Given the description of an element on the screen output the (x, y) to click on. 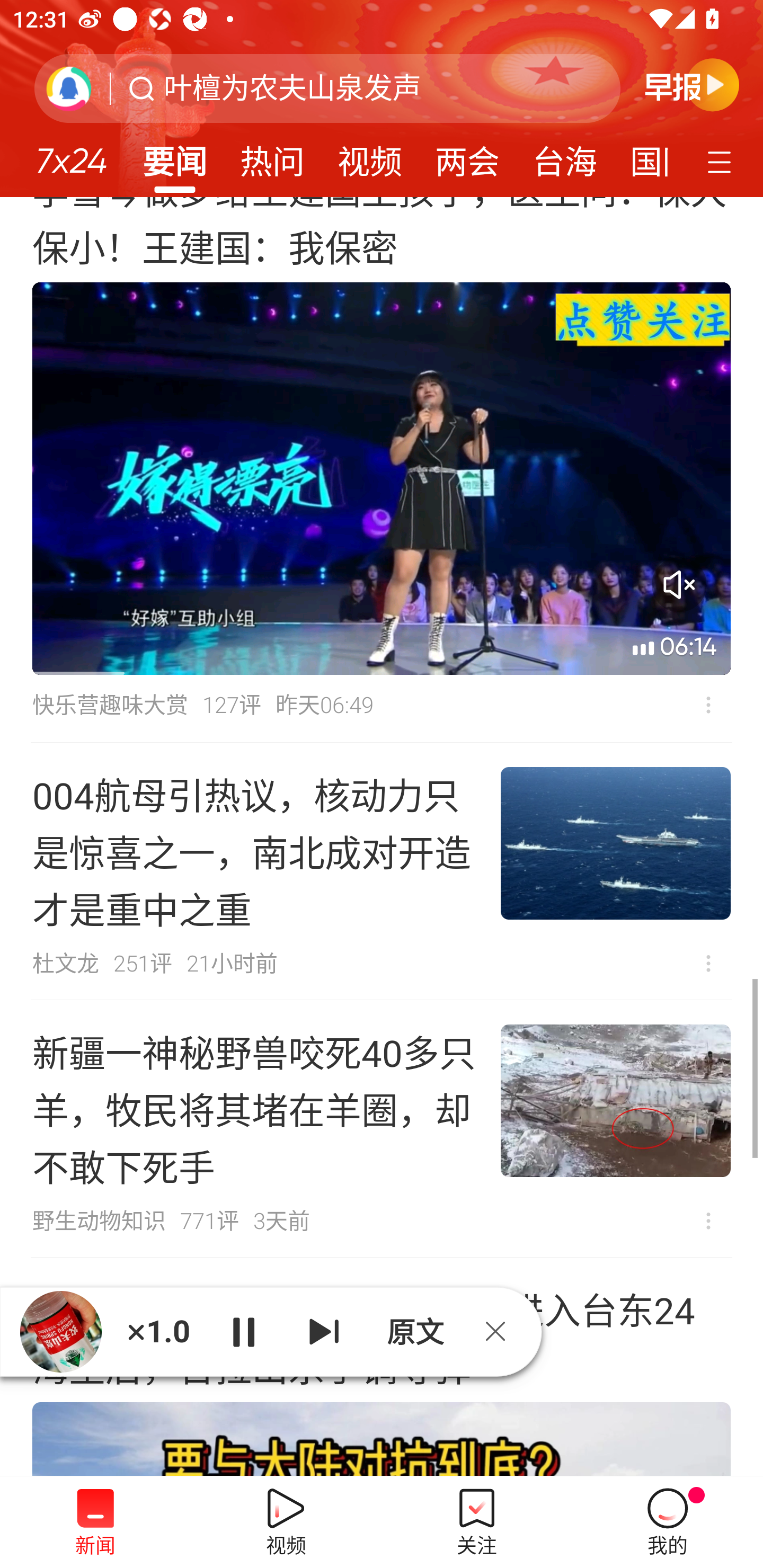
早晚报 (691, 84)
刷新 (68, 88)
叶檀为农夫山泉发声 (292, 88)
7x24 (70, 154)
要闻 (174, 155)
热问 (272, 155)
视频 (369, 155)
两会 (466, 155)
台海 (564, 155)
 定制频道 (721, 160)
音量开关 (678, 583)
 不感兴趣 (707, 704)
 不感兴趣 (707, 963)
 不感兴趣 (707, 1221)
播放器 (60, 1331)
 播放 (242, 1330)
 下一个 (323, 1330)
 关闭 (501, 1330)
原文 (413, 1331)
 1.0 (157, 1330)
